Given the description of an element on the screen output the (x, y) to click on. 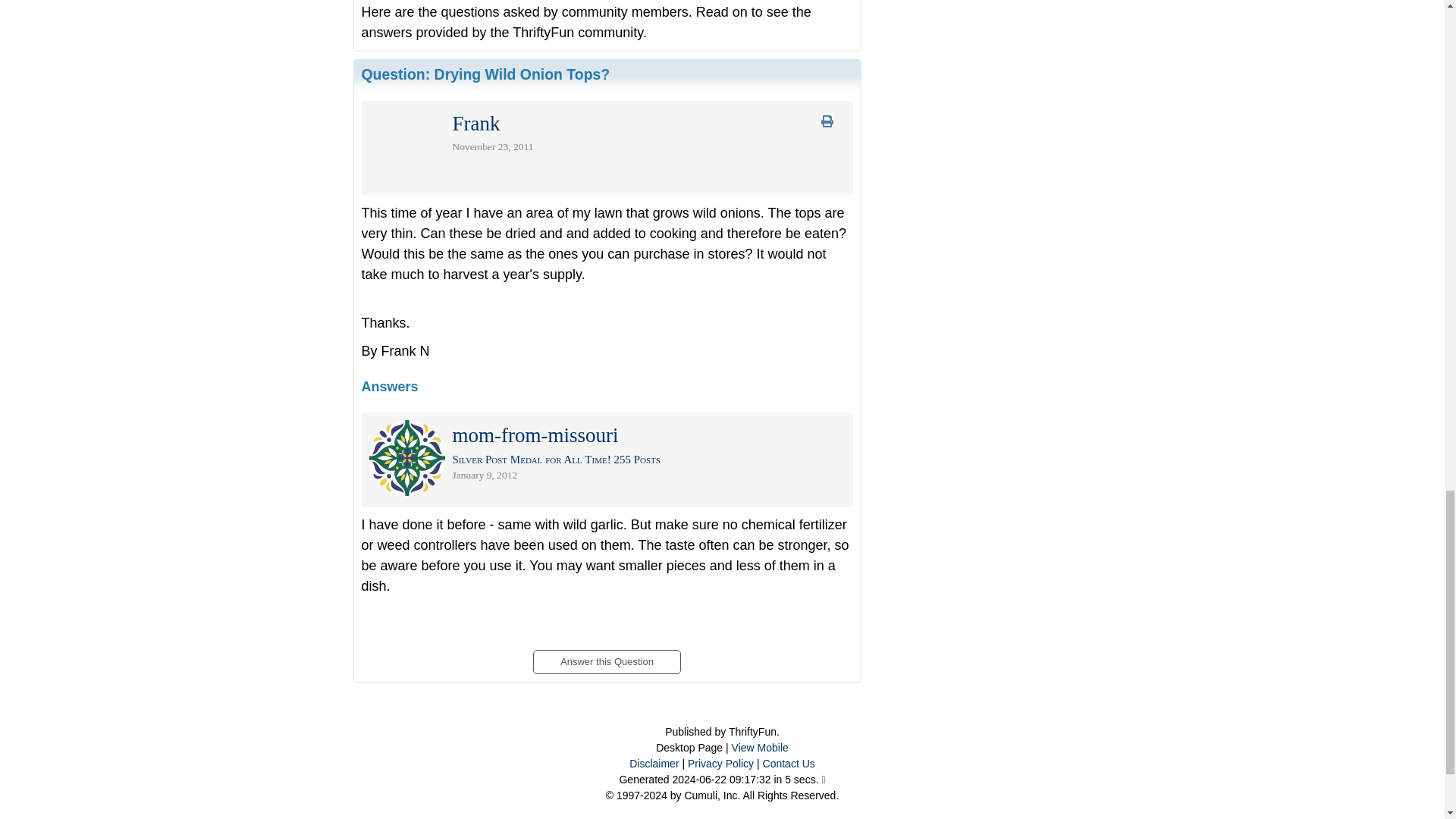
Frank (475, 126)
Question: Drying Wild Onion Tops? (485, 74)
mom-from-missouri (534, 438)
Answer this Question (605, 657)
